Given the description of an element on the screen output the (x, y) to click on. 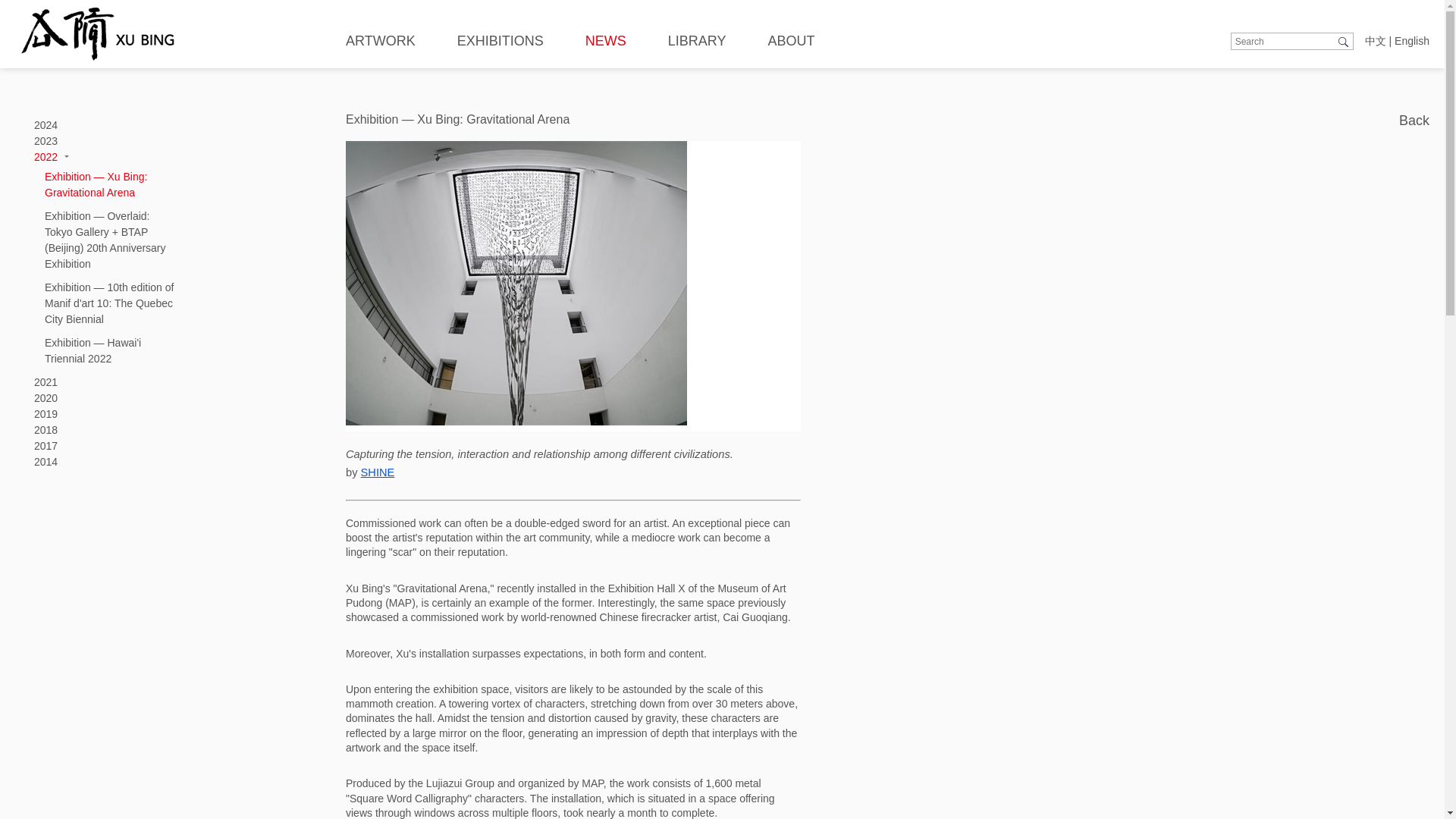
ABOUT (790, 40)
2024 (45, 124)
ARTWORK (380, 40)
2023 (45, 141)
LIBRARY (697, 40)
2020 (45, 398)
2022 (45, 156)
EXHIBITIONS (500, 40)
English (1411, 40)
2021 (45, 381)
NEWS (605, 40)
